Given the description of an element on the screen output the (x, y) to click on. 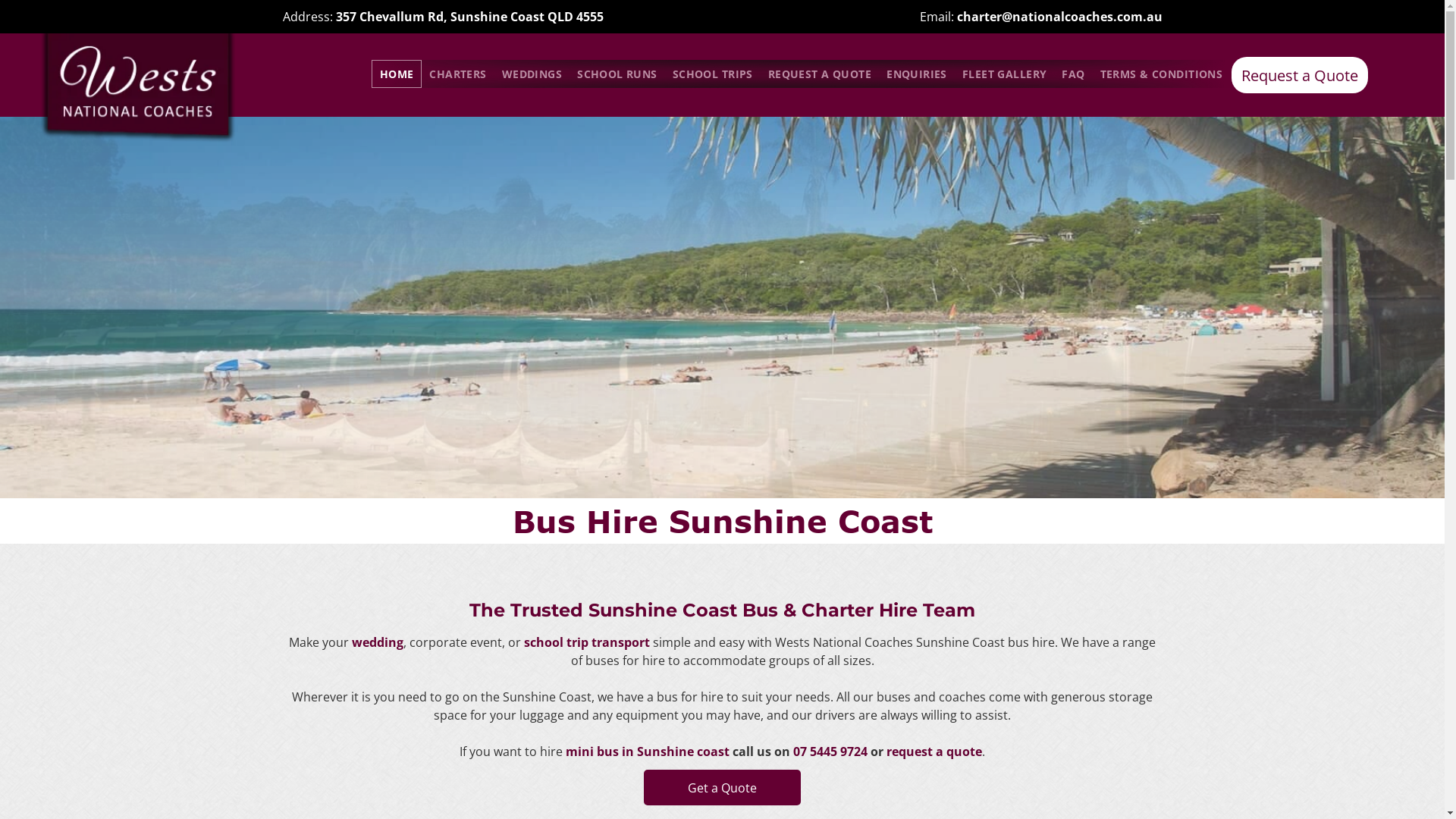
charter@nationalcoaches.com.au Element type: text (1059, 16)
Bus Hire Sunshine Coast Element type: hover (137, 90)
FLEET GALLERY Element type: text (1004, 73)
wedding Element type: text (377, 641)
SCHOOL TRIPS Element type: text (712, 73)
ENQUIRIES Element type: text (916, 73)
REQUEST A QUOTE Element type: text (819, 73)
07 5445 9724 Element type: text (830, 751)
FAQ Element type: text (1073, 73)
TERMS & CONDITIONS Element type: text (1161, 73)
SCHOOL RUNS Element type: text (617, 73)
school trip transport Element type: text (586, 641)
request a quote Element type: text (934, 751)
mini bus in Sunshine coast Element type: text (647, 751)
Get a Quote Element type: text (721, 787)
357 Chevallum Rd, Sunshine Coast QLD 4555 Element type: text (468, 16)
HOME Element type: text (396, 73)
Request a Quote Element type: text (1299, 74)
CHARTERS Element type: text (457, 73)
WEDDINGS Element type: text (531, 73)
